Given the description of an element on the screen output the (x, y) to click on. 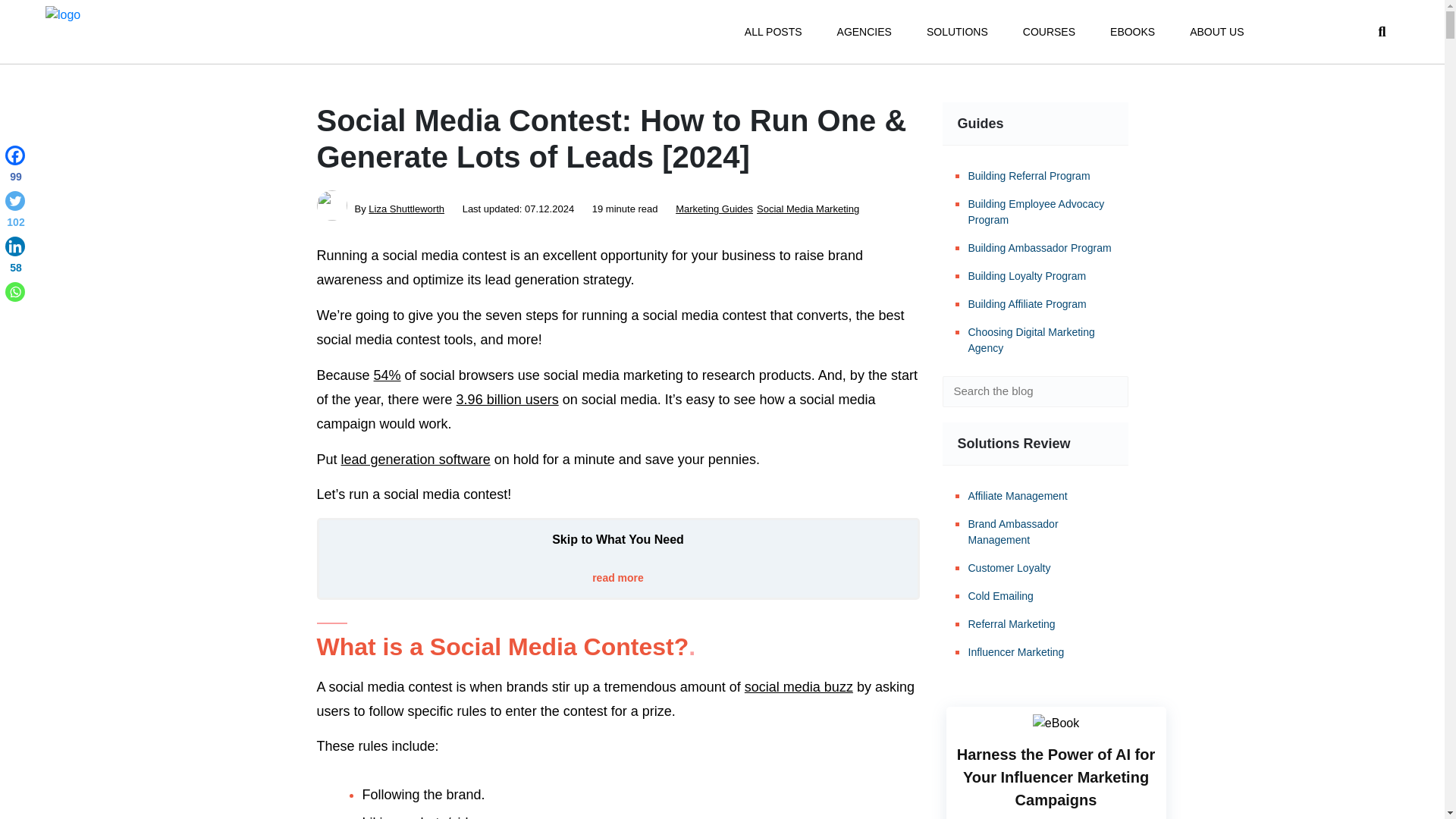
Search (1105, 391)
ALL POSTS (772, 31)
Search (1105, 391)
Facebook (14, 166)
SOLUTIONS (957, 31)
Whatsapp (14, 291)
AGENCIES (864, 31)
Twitter (14, 211)
Linkedin (14, 257)
